Given the description of an element on the screen output the (x, y) to click on. 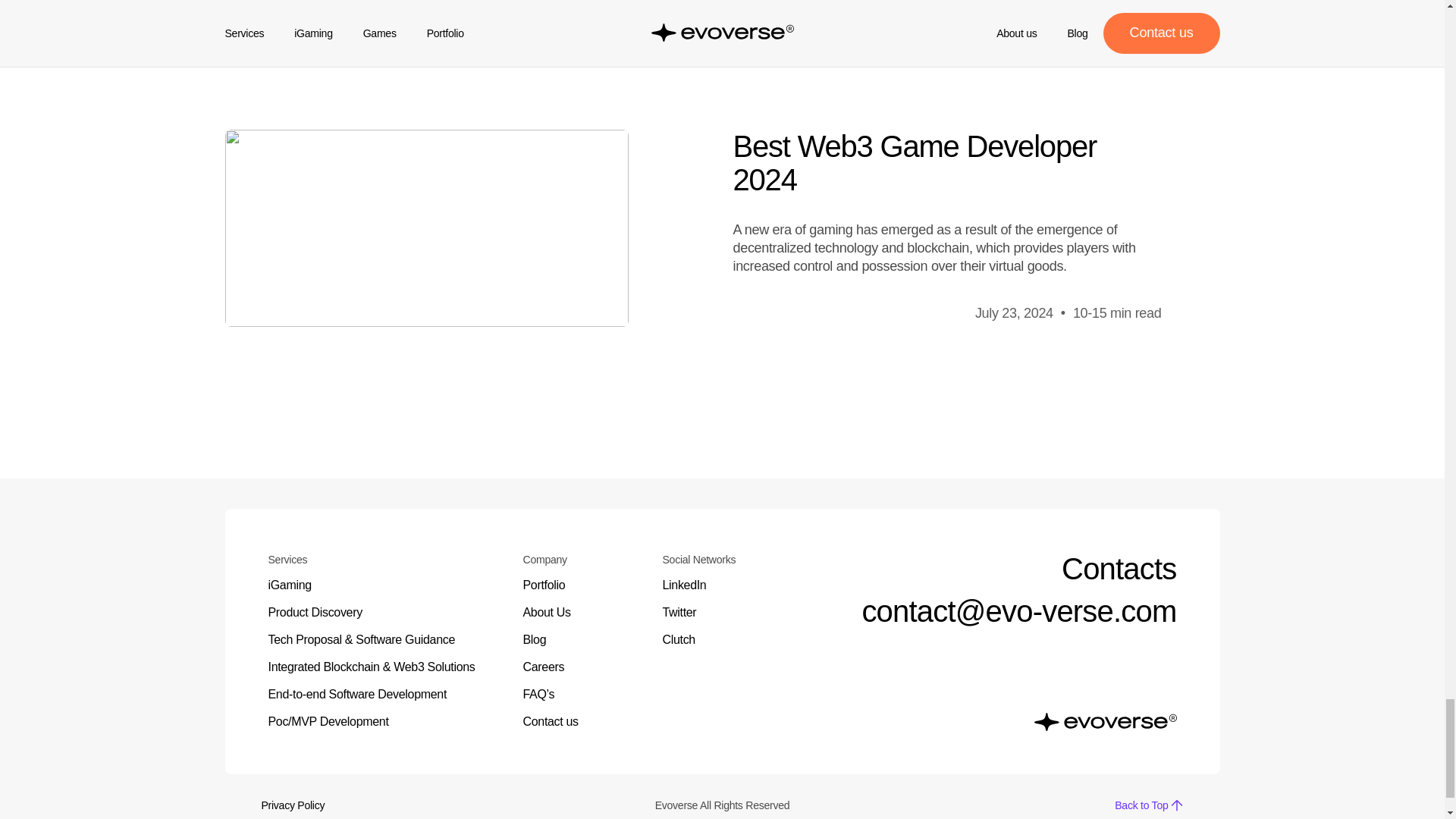
Clutch (716, 639)
Services (380, 559)
LinkedIn (716, 585)
Blog (576, 639)
Careers (576, 667)
iGaming (380, 585)
Contact us (576, 721)
About Us (576, 612)
End-to-end Software Development (380, 694)
Product Discovery (380, 612)
